Given the description of an element on the screen output the (x, y) to click on. 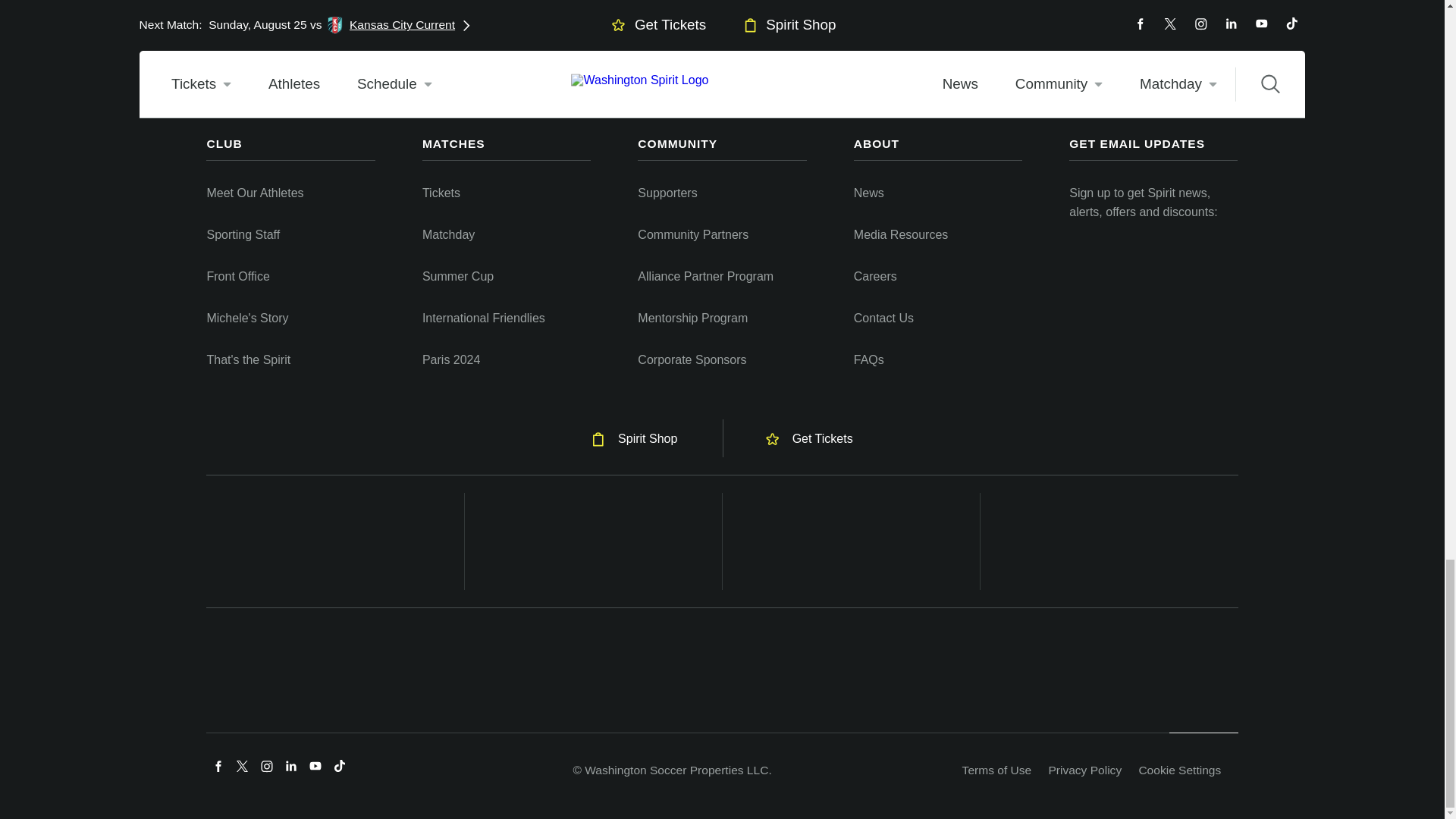
Opens a new window to clubs sponsors (593, 541)
Opens a new window to clubs sponsors (335, 541)
Opens a new window to clubs sponsors (850, 541)
